Given the description of an element on the screen output the (x, y) to click on. 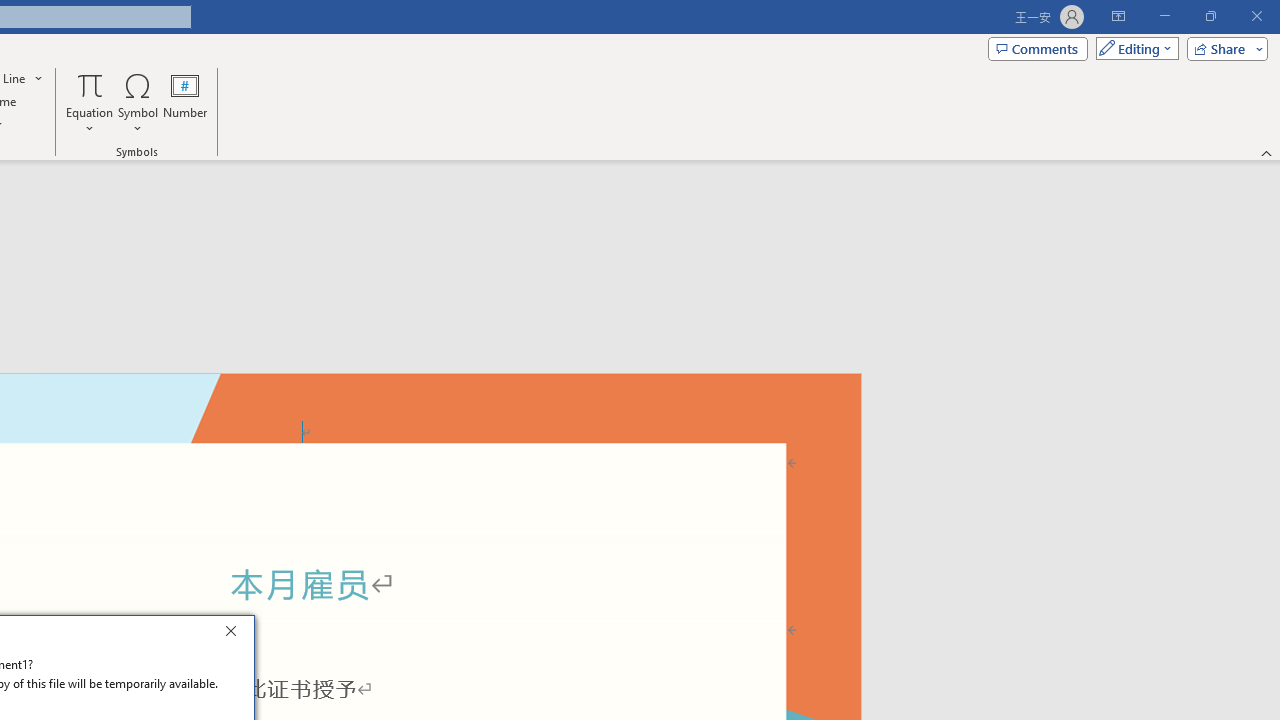
Symbol (138, 102)
Number... (185, 102)
